Given the description of an element on the screen output the (x, y) to click on. 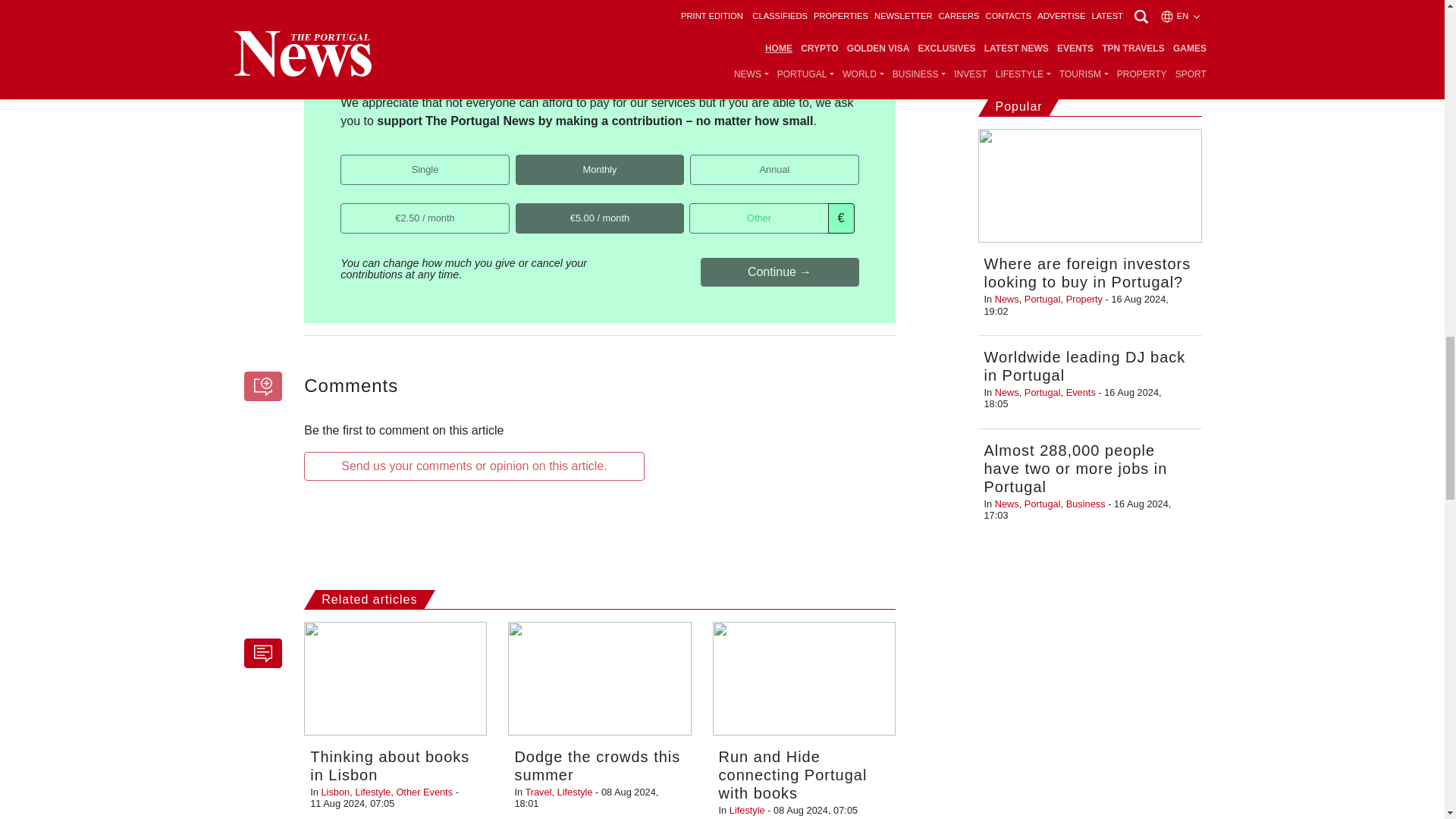
single (345, 159)
2.5 (345, 207)
P-6T2758016F920900CMGGQYMQ (520, 159)
5 (520, 207)
P-18662245734186221MGVD6SI (695, 159)
